Given the description of an element on the screen output the (x, y) to click on. 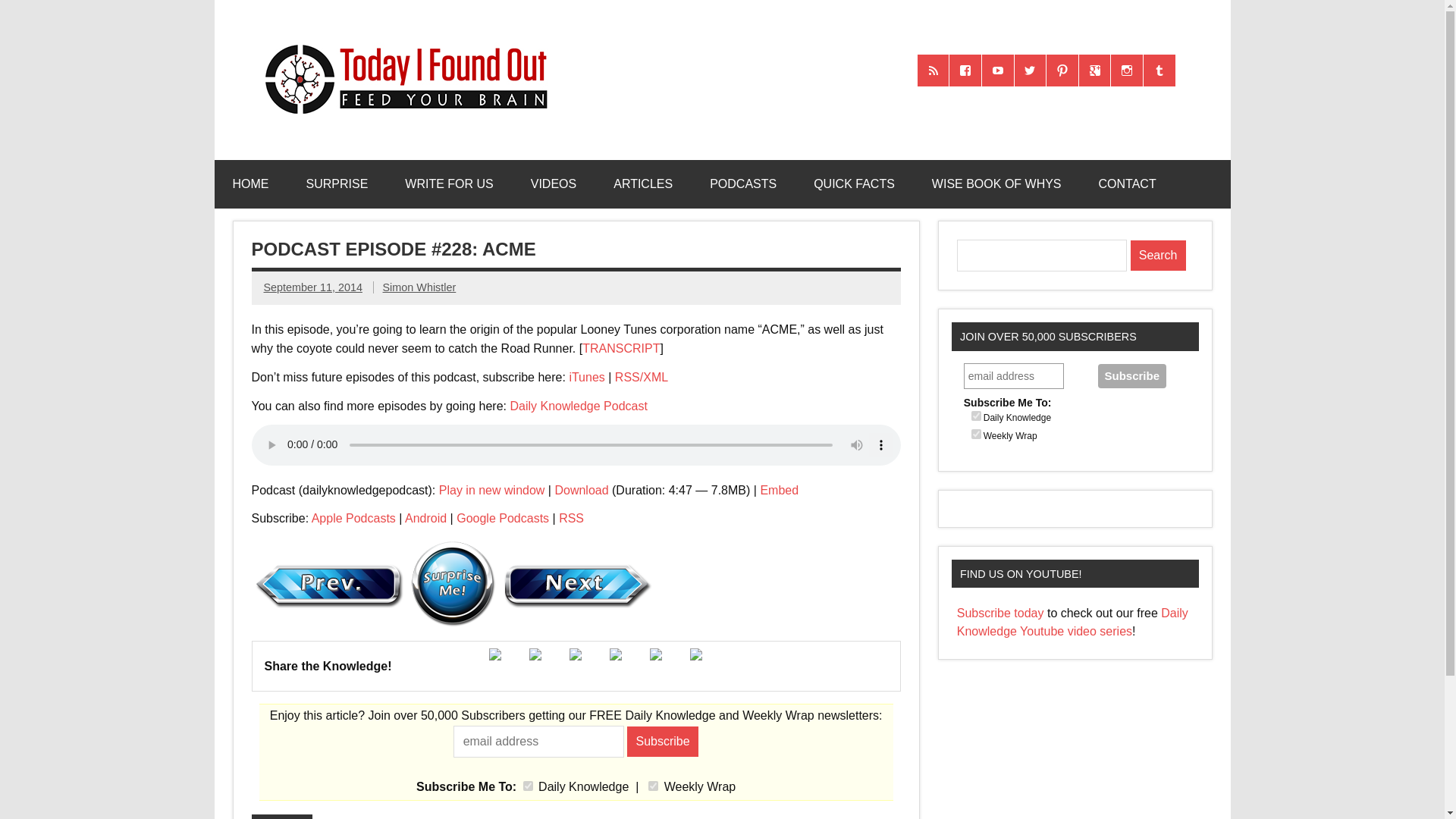
2 (976, 433)
WRITE FOR US (449, 183)
Play in new window (491, 490)
1 (976, 415)
Today I Found Out (399, 42)
12:37 am (312, 287)
Download (581, 490)
2 (652, 786)
Subscribe (1131, 375)
PODCASTS (742, 183)
